Given the description of an element on the screen output the (x, y) to click on. 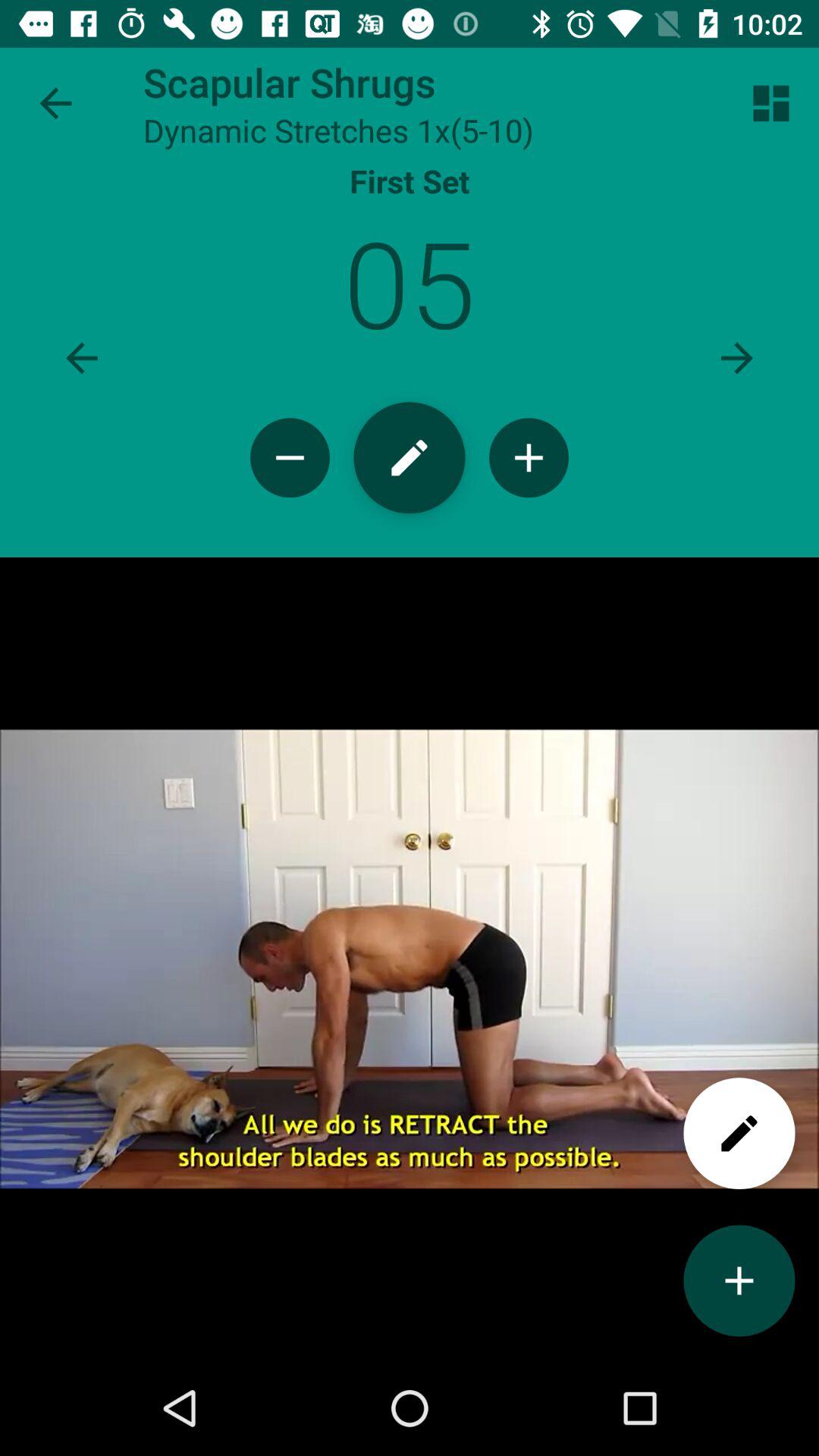
click on the edit option at centre (409, 457)
click right side above botton (771, 103)
click on the white color button (739, 1133)
green color icon with plus sign at the bottom (739, 1280)
